Given the description of an element on the screen output the (x, y) to click on. 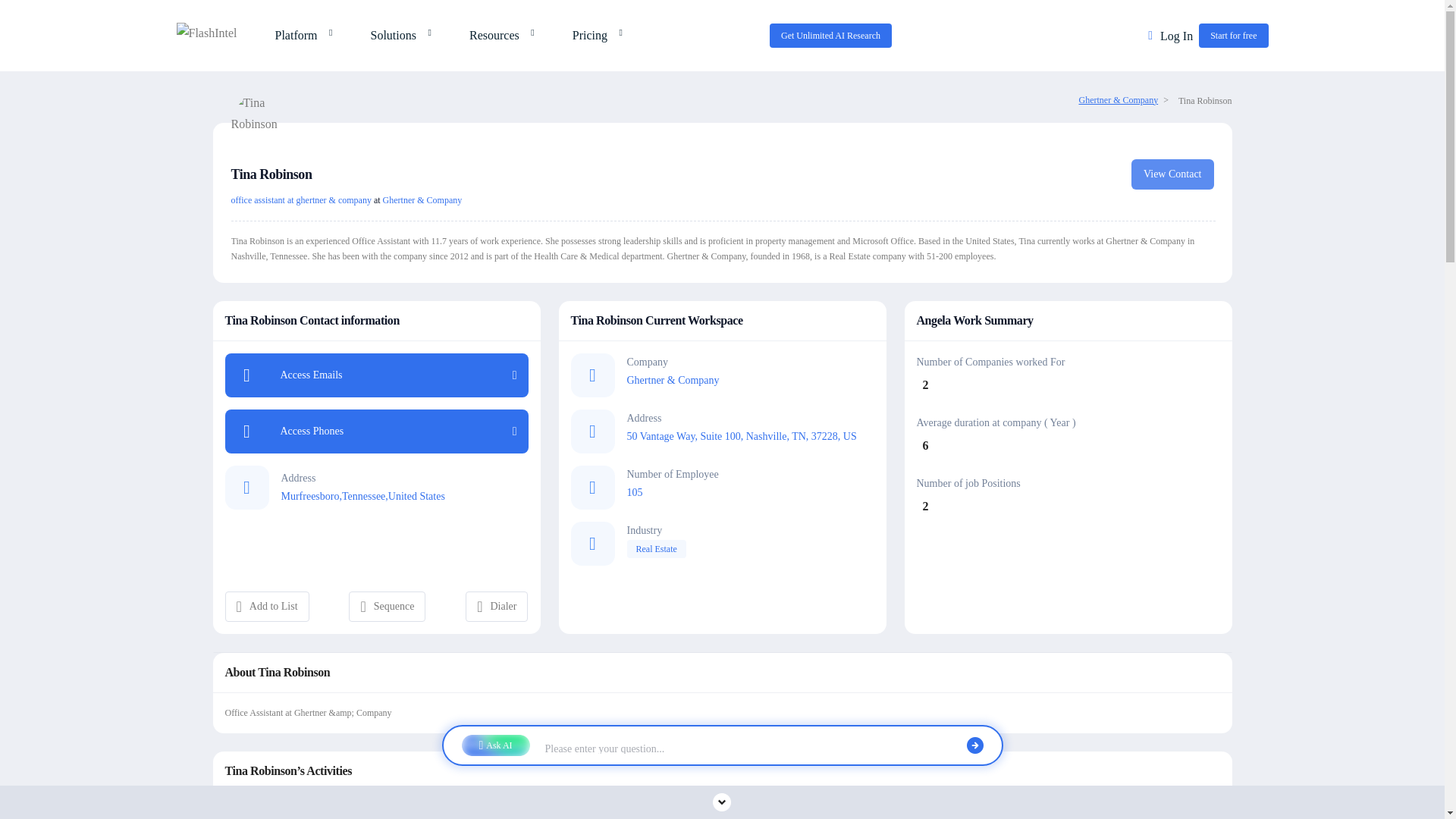
Solutions (396, 34)
Platform (299, 34)
